Given the description of an element on the screen output the (x, y) to click on. 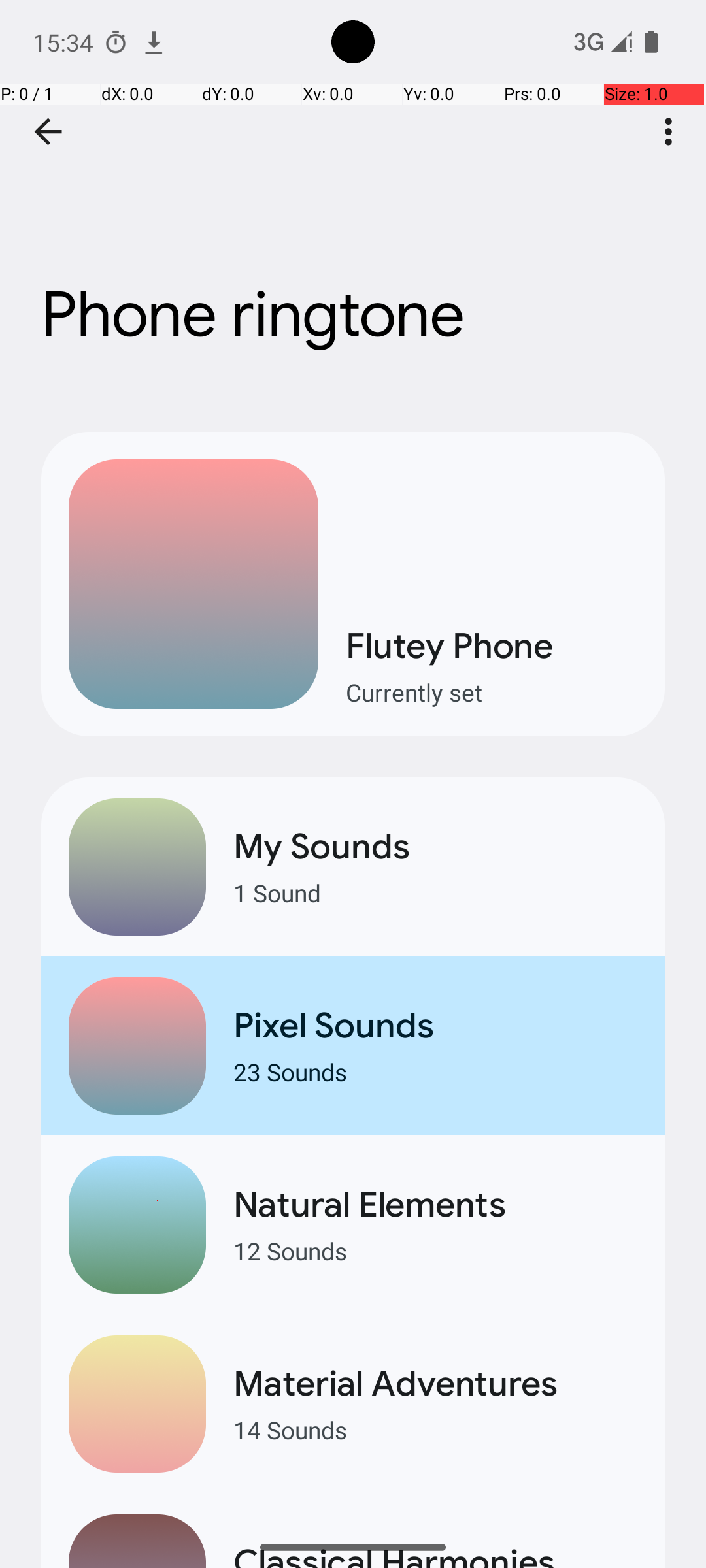
Currently set Element type: android.widget.TextView (491, 691)
My Sounds Element type: android.widget.TextView (435, 846)
1 Sound Element type: android.widget.TextView (435, 892)
Material Adventures Element type: android.widget.TextView (435, 1383)
14 Sounds Element type: android.widget.TextView (435, 1429)
